Given the description of an element on the screen output the (x, y) to click on. 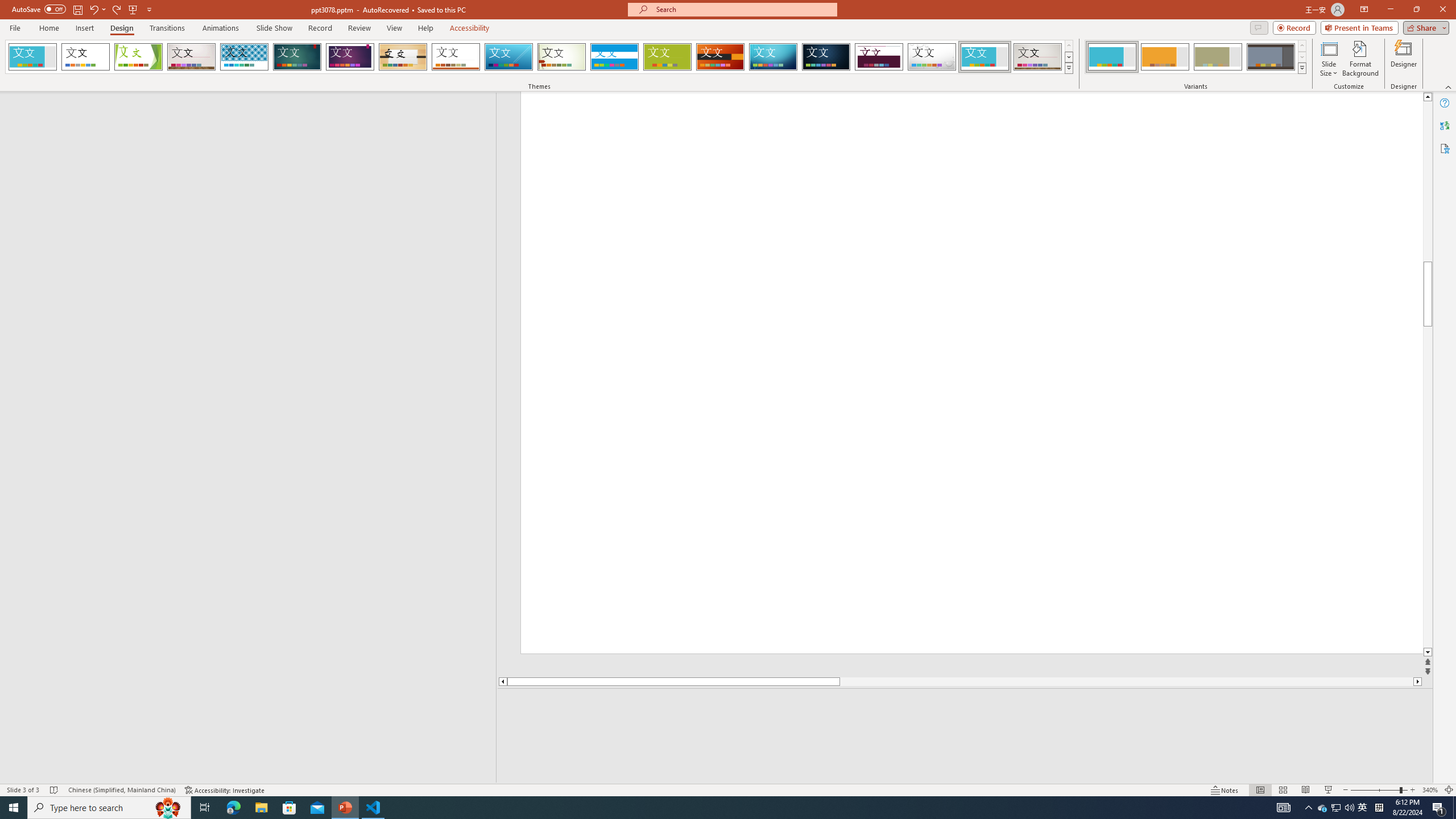
Slice (508, 56)
Format Background (1360, 58)
Zoom 340% (1430, 790)
Themes (1068, 67)
An abstract genetic concept (845, 383)
Gallery (1037, 56)
Damask (826, 56)
